Given the description of an element on the screen output the (x, y) to click on. 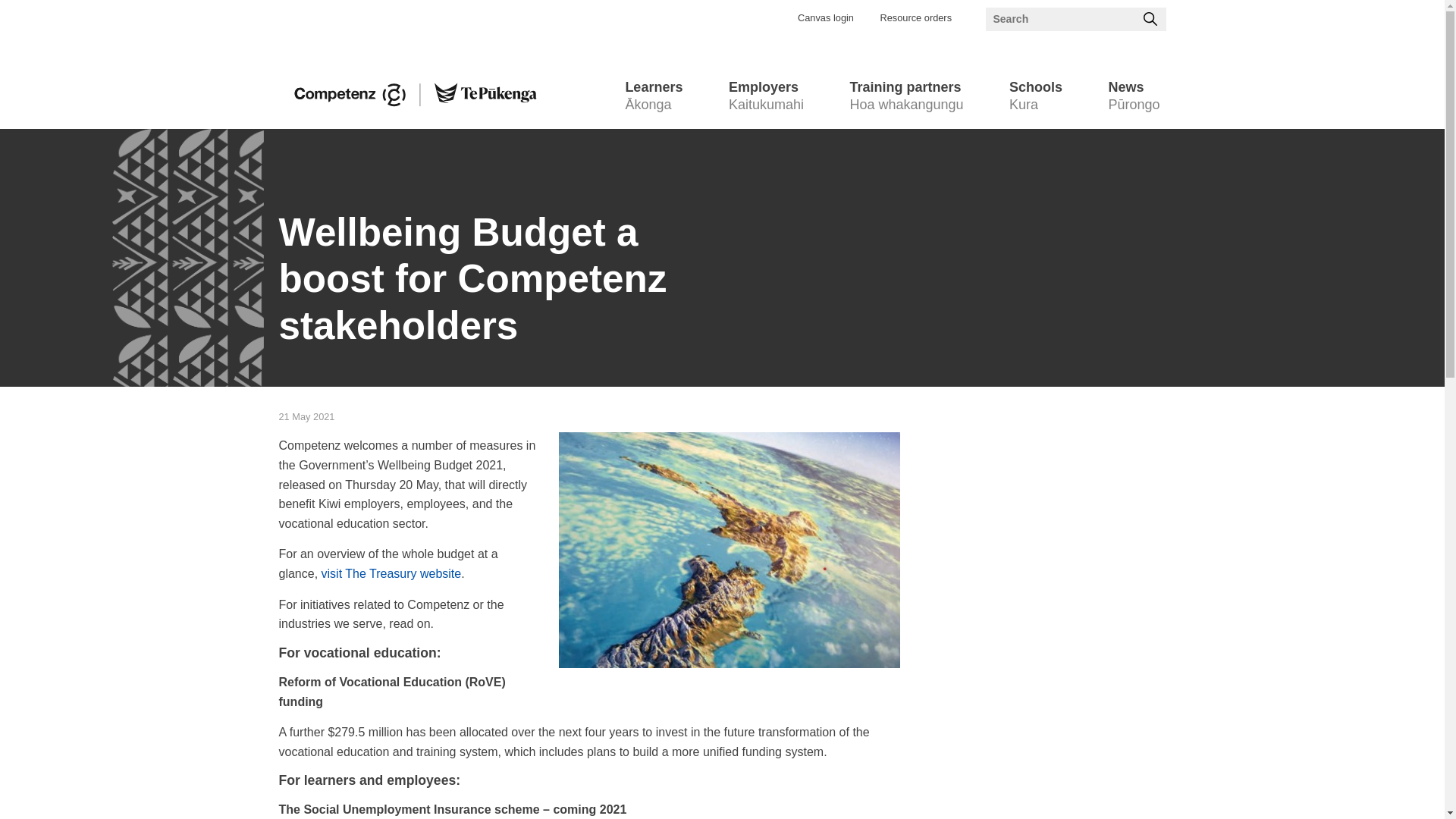
Canvas login (825, 17)
Resource orders (906, 97)
Go (765, 97)
Go (915, 17)
